Given the description of an element on the screen output the (x, y) to click on. 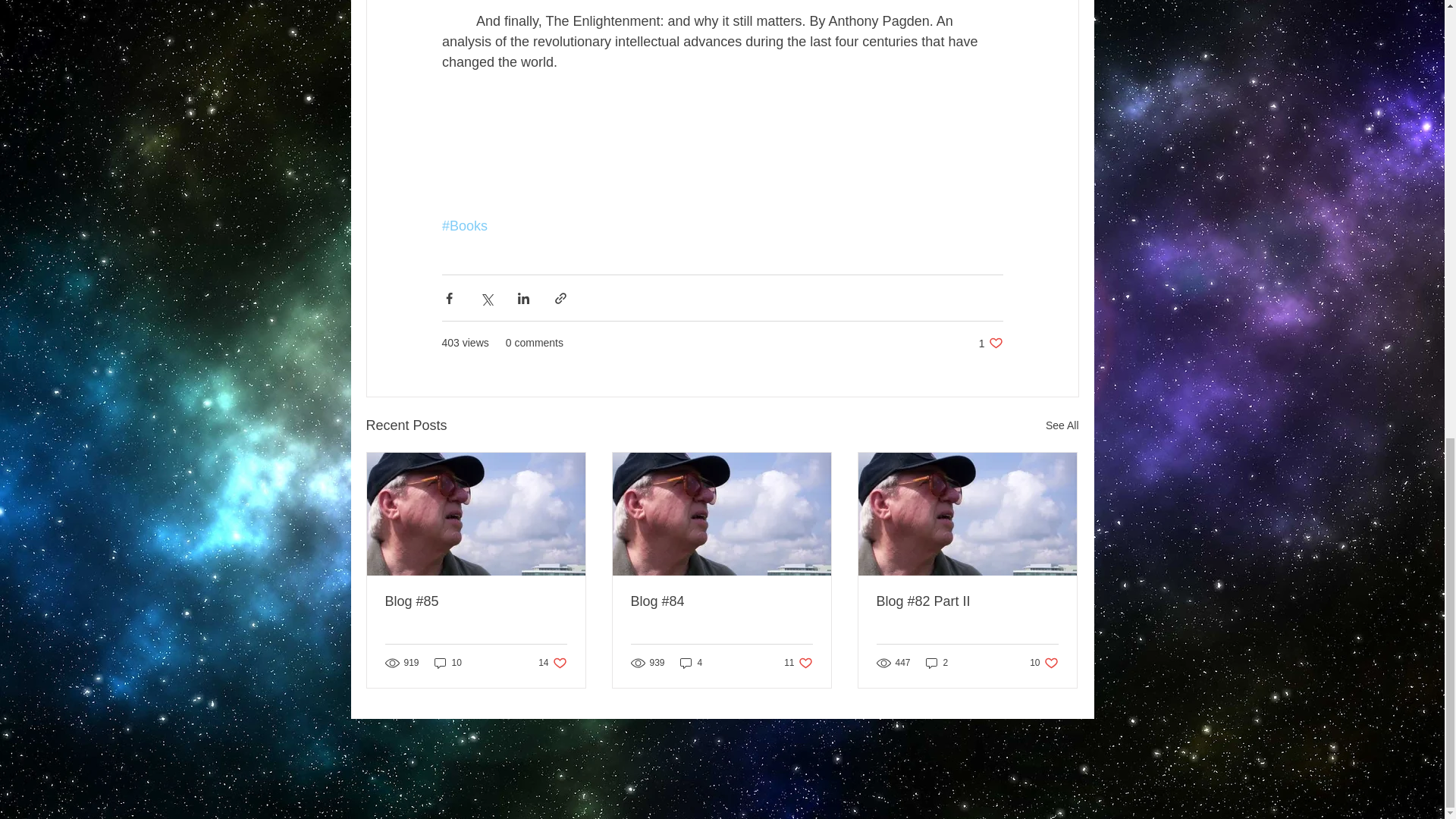
10 (990, 342)
See All (447, 662)
